Given the description of an element on the screen output the (x, y) to click on. 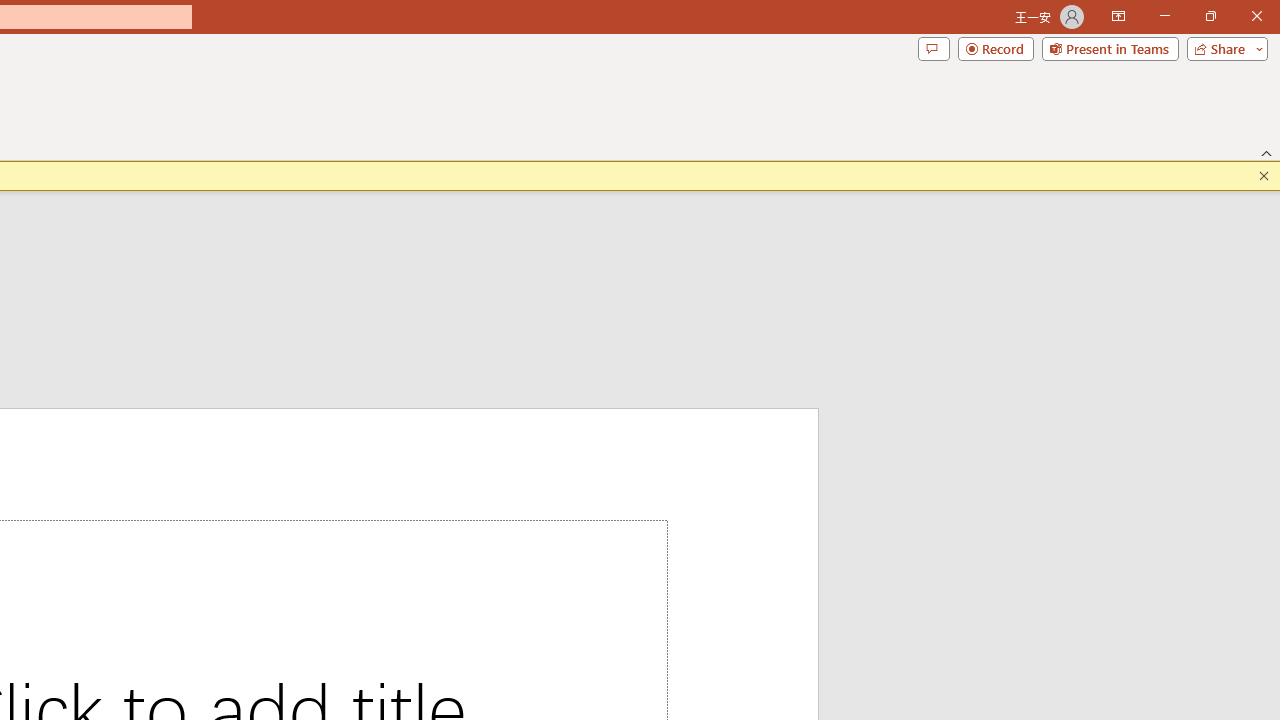
Close this message (1263, 176)
